Given the description of an element on the screen output the (x, y) to click on. 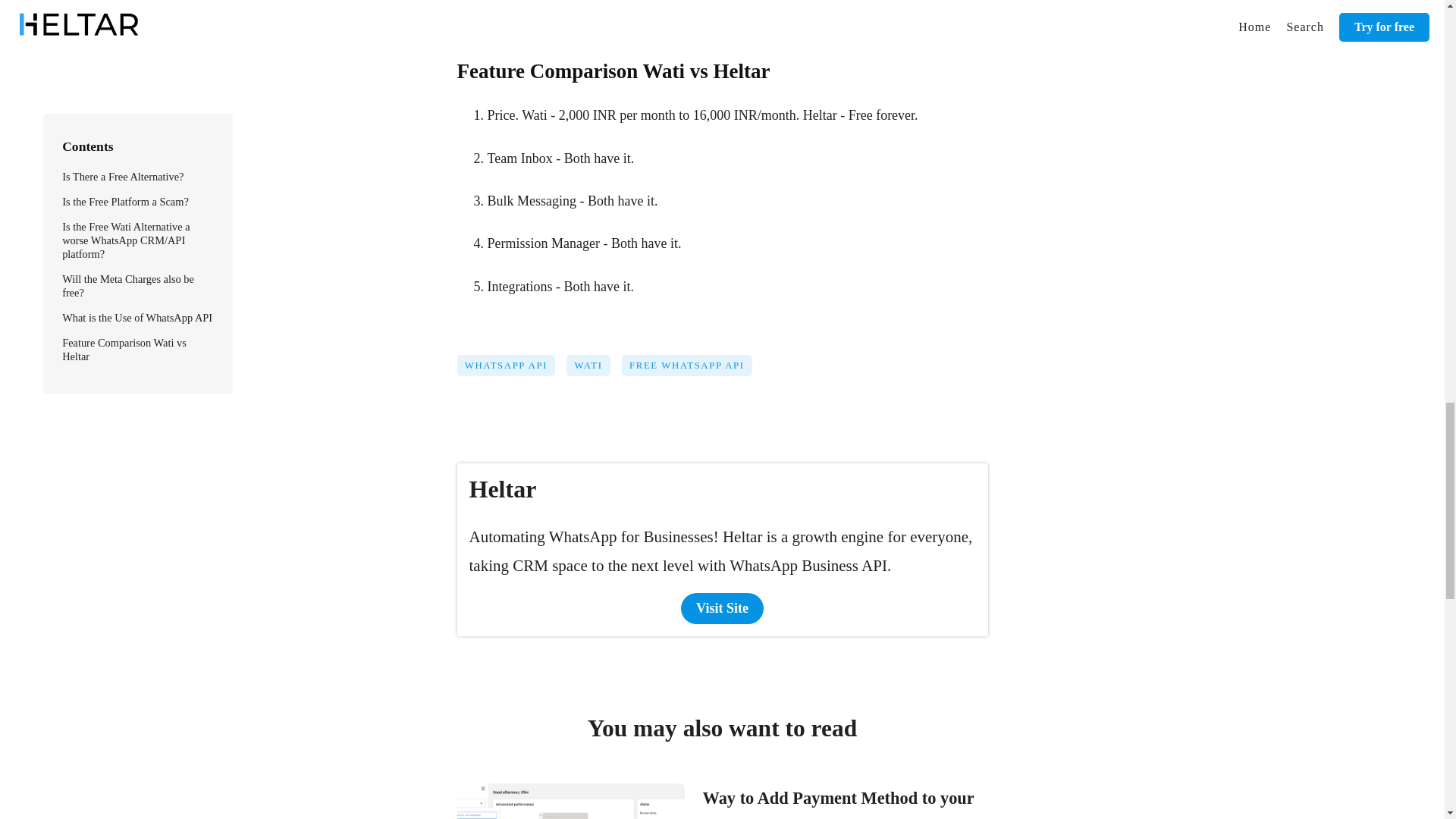
Visit Site (721, 608)
WATI (593, 370)
FREE WHATSAPP API (691, 370)
WHATSAPP API (511, 370)
